Given the description of an element on the screen output the (x, y) to click on. 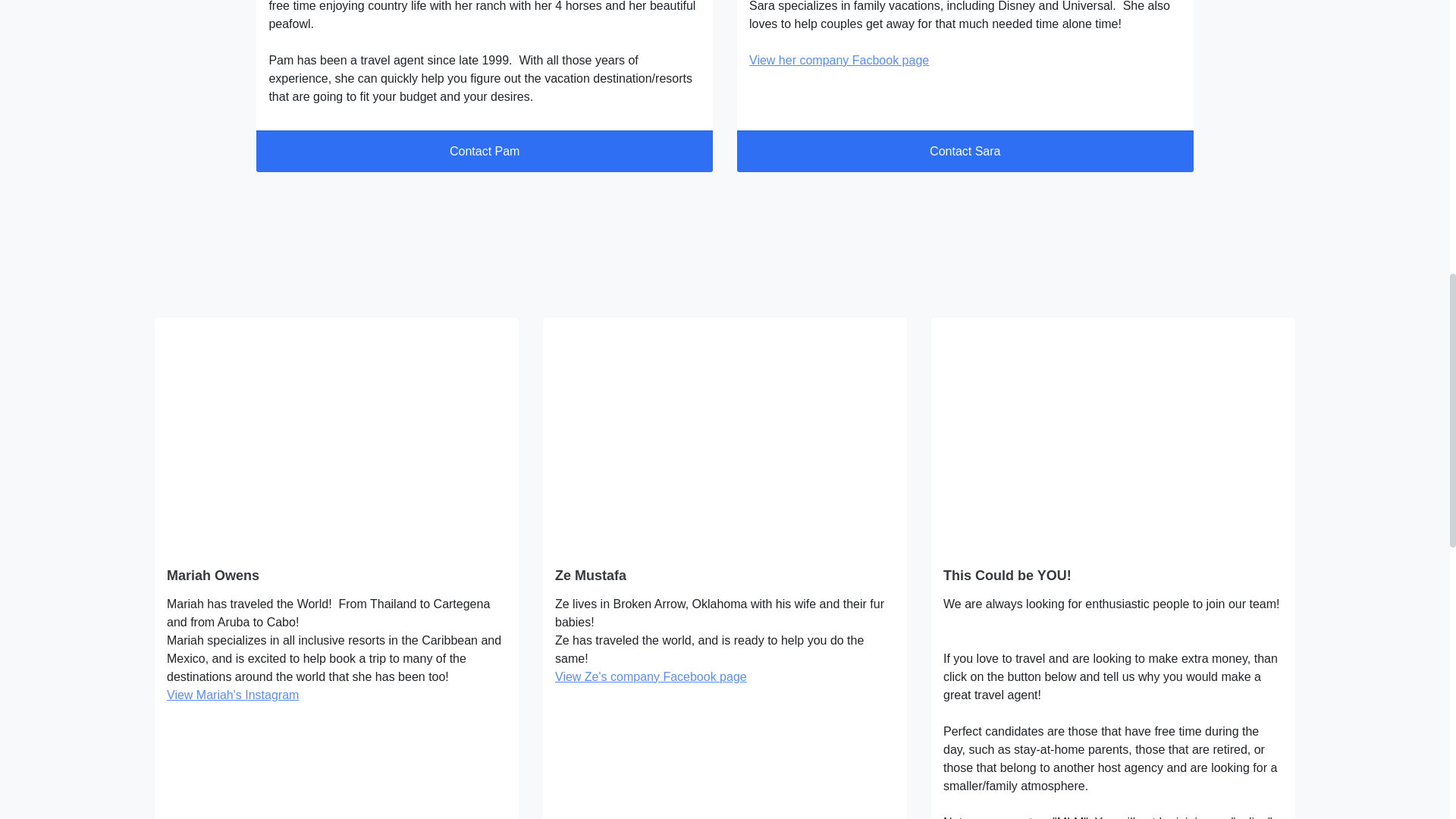
View Mariah's Instagram (232, 694)
Contact Sara (964, 151)
Contact Pam (483, 151)
View her company Facbook page (838, 60)
View Ze's company Facebook page (650, 676)
